Given the description of an element on the screen output the (x, y) to click on. 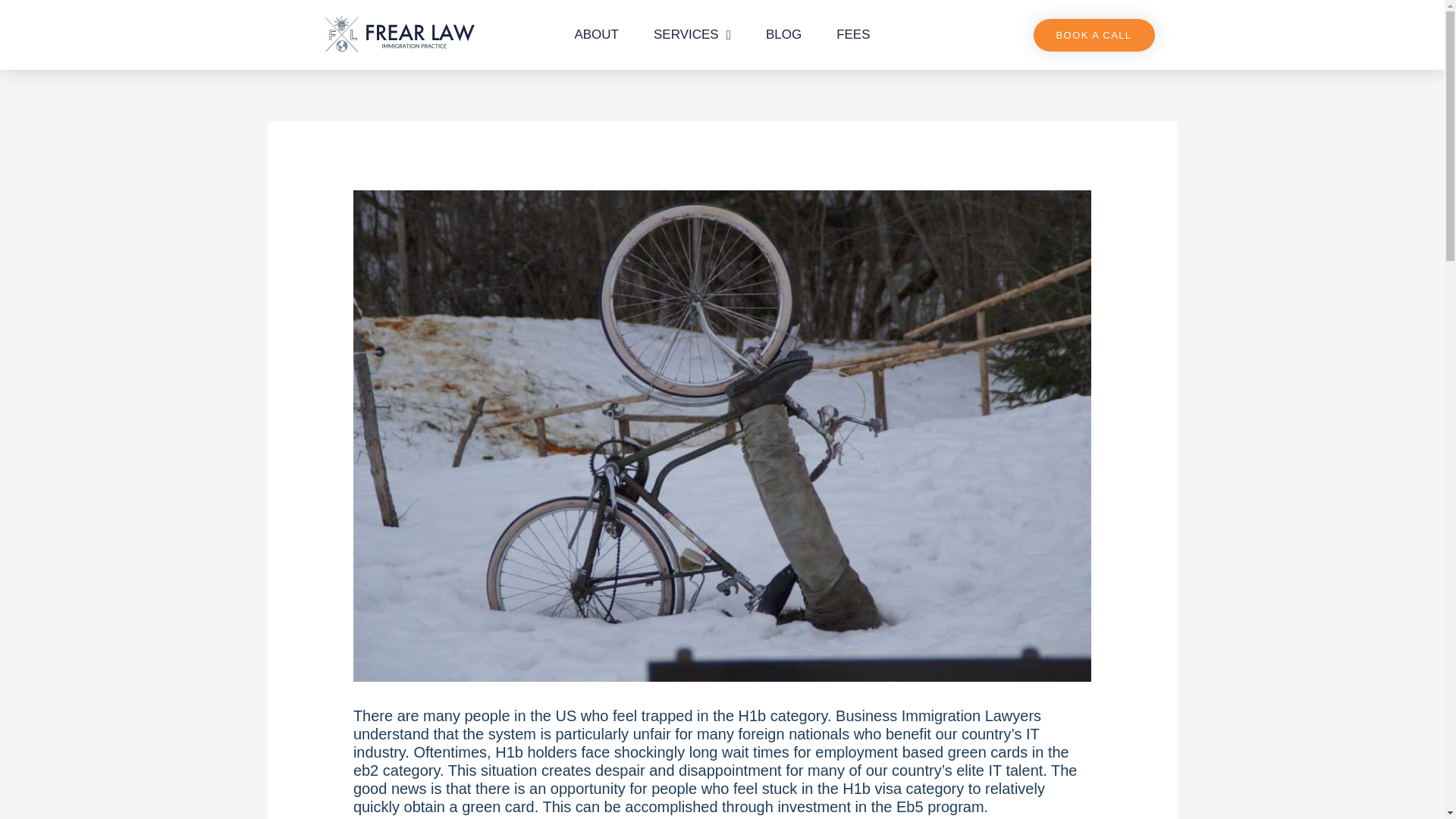
ABOUT (596, 34)
BOOK A CALL (1093, 34)
BLOG (783, 34)
FEES (853, 34)
SERVICES (692, 34)
